Given the description of an element on the screen output the (x, y) to click on. 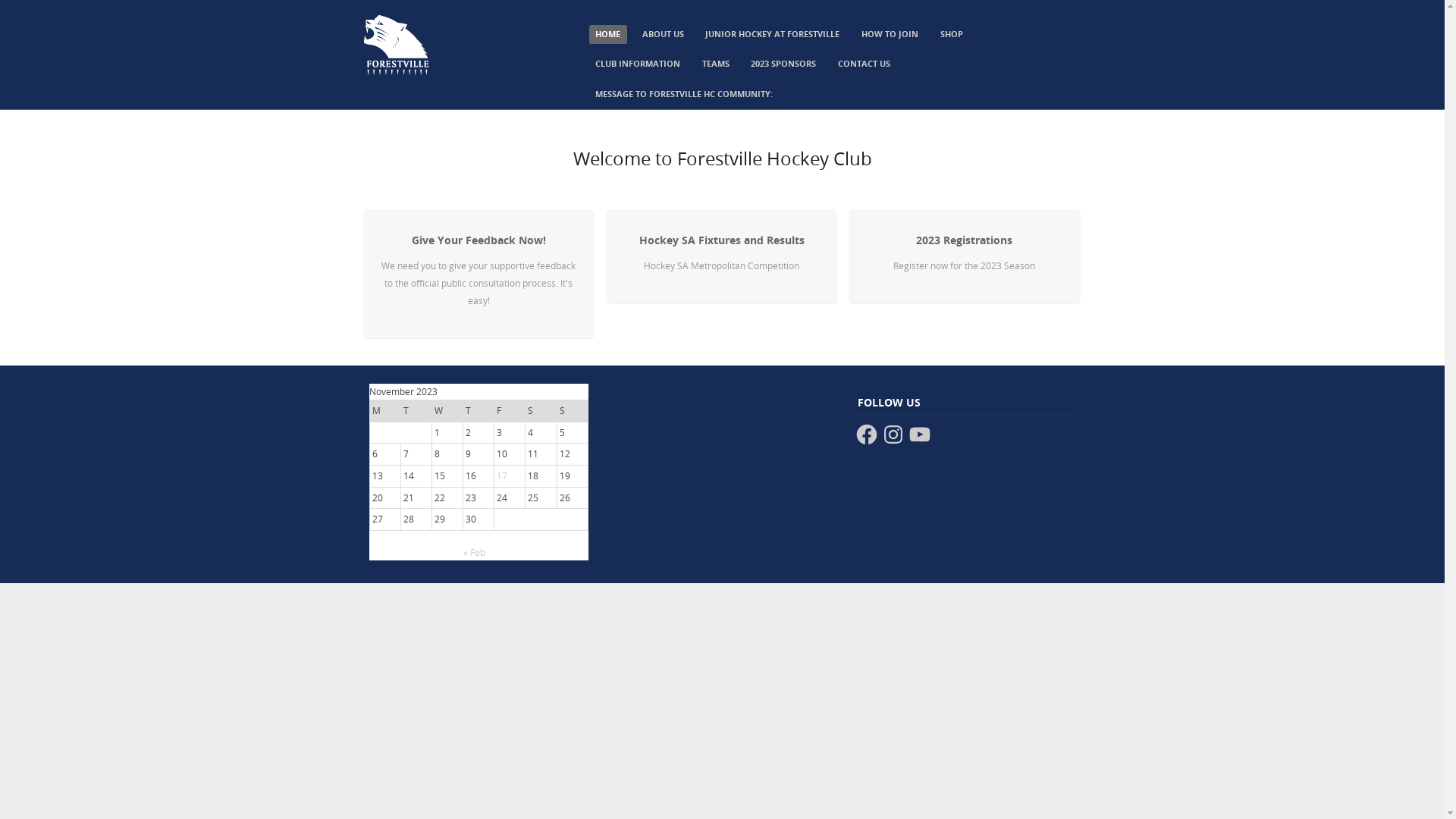
MESSAGE TO FORESTVILLE HC COMMUNITY: Element type: text (683, 93)
HOW TO JOIN Element type: text (889, 34)
HOME Element type: text (607, 34)
CLUB INFORMATION Element type: text (637, 63)
Give Your Feedback Now! Element type: text (478, 239)
YouTube Element type: text (919, 434)
TEAMS Element type: text (715, 63)
ABOUT US Element type: text (662, 34)
JUNIOR HOCKEY AT FORESTVILLE Element type: text (773, 34)
Hockey SA Fixtures and Results Element type: text (721, 239)
2023 Registrations Element type: text (964, 239)
Forestville Hockey Club Element type: hover (395, 72)
SHOP Element type: text (951, 34)
SKIP TO CONTENT Element type: text (619, 28)
CONTACT US Element type: text (864, 63)
2023 SPONSORS Element type: text (783, 63)
17 Element type: text (501, 475)
Instagram Element type: text (893, 434)
Facebook Element type: text (866, 434)
